Given the description of an element on the screen output the (x, y) to click on. 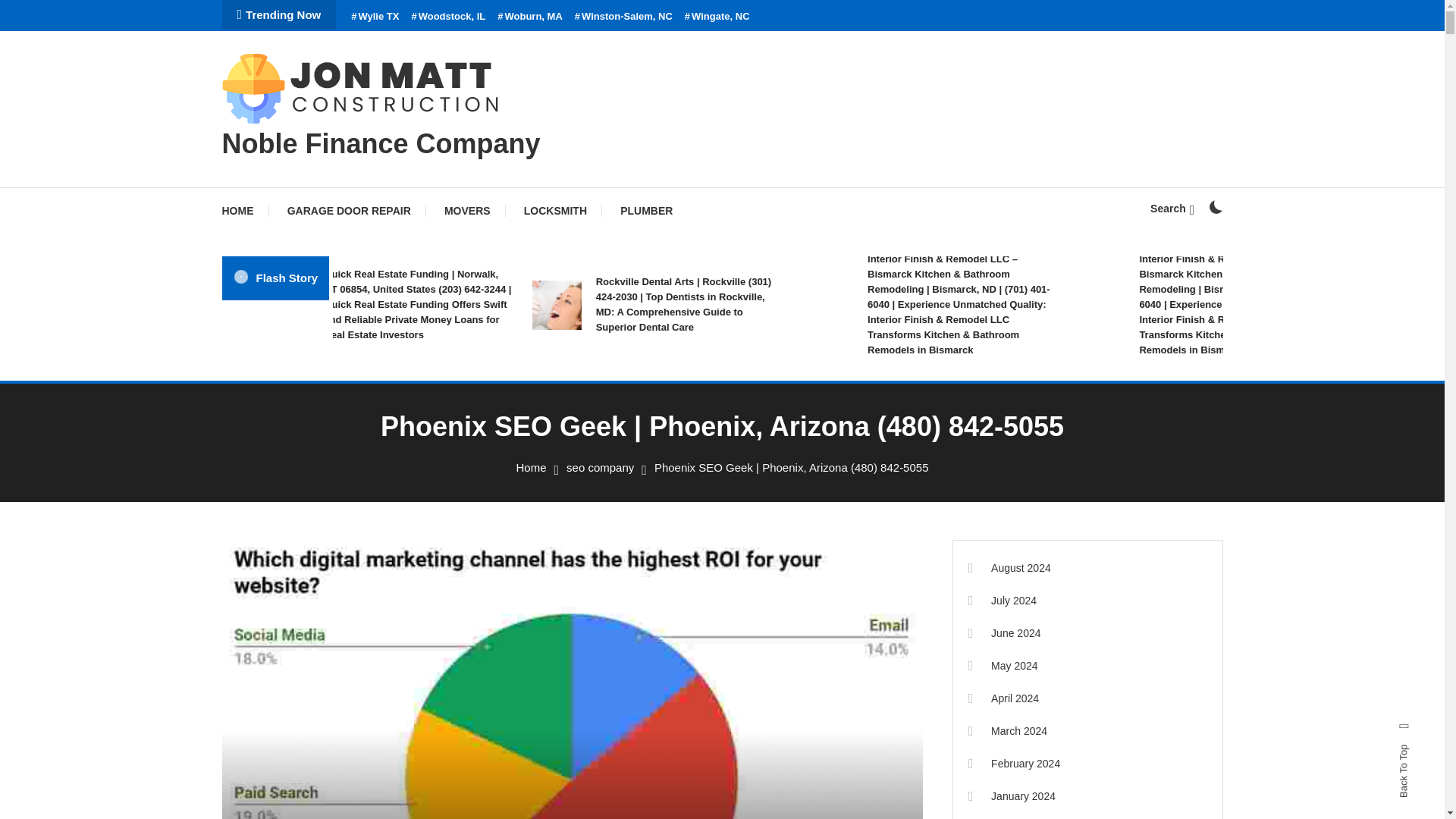
on (1215, 206)
Home (530, 467)
Search (768, 434)
Winston-Salem, NC (623, 16)
Wylie TX (374, 16)
HOME (244, 210)
Search (1171, 208)
GARAGE DOOR REPAIR (349, 210)
Wingate, NC (716, 16)
Woburn, MA (529, 16)
